Given the description of an element on the screen output the (x, y) to click on. 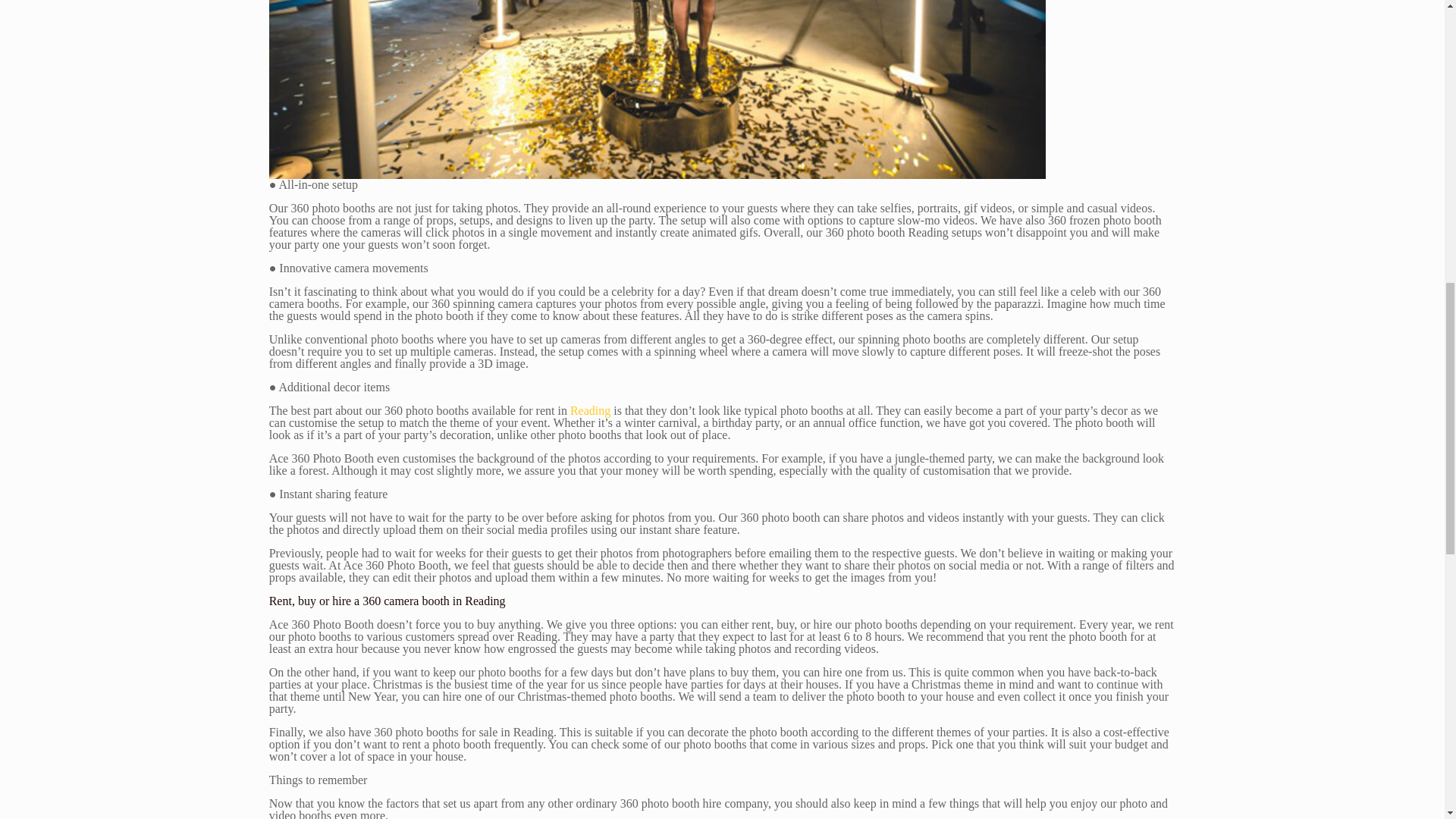
Reading (590, 410)
